Given the description of an element on the screen output the (x, y) to click on. 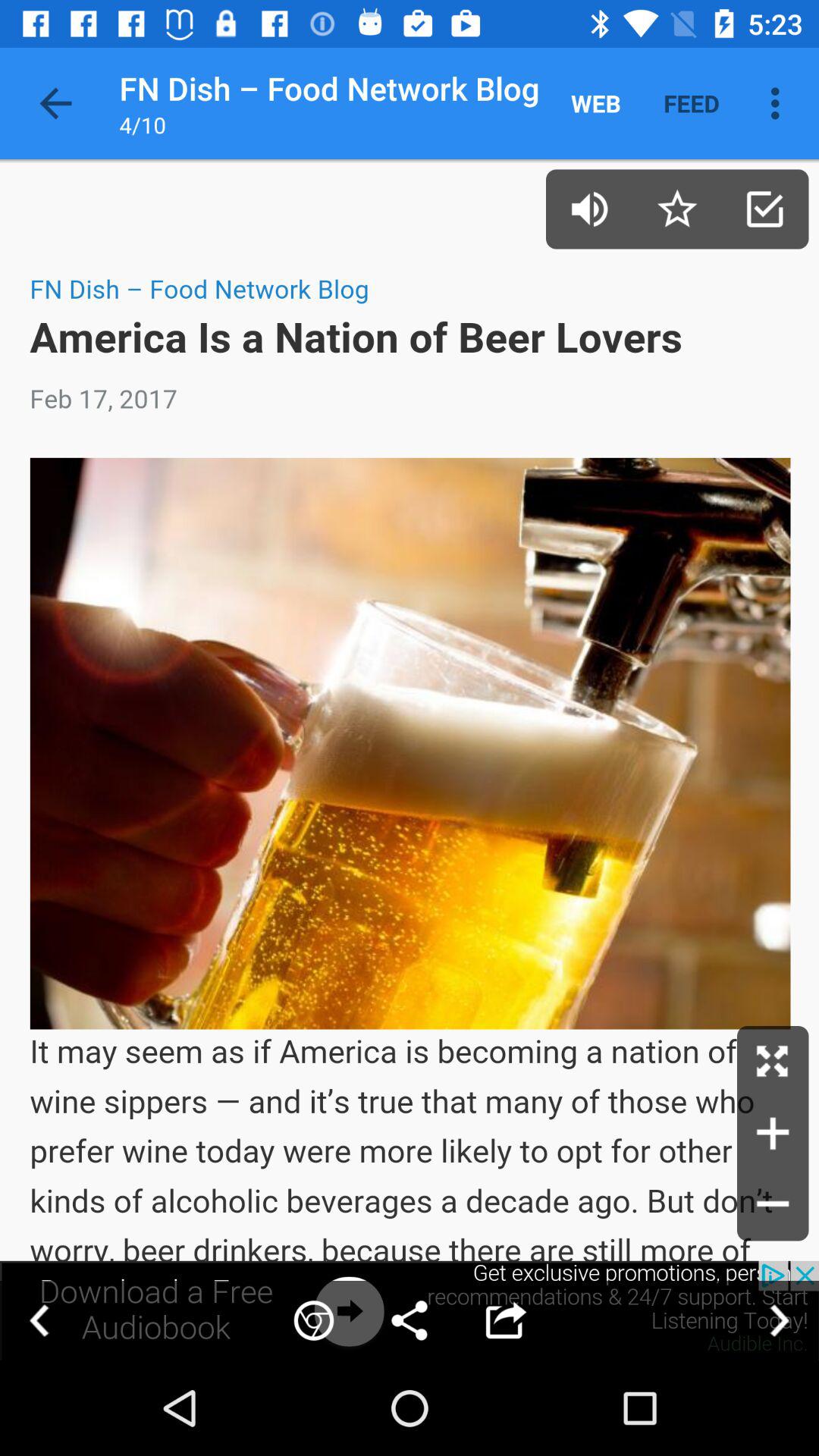
favorite this article (677, 209)
